Given the description of an element on the screen output the (x, y) to click on. 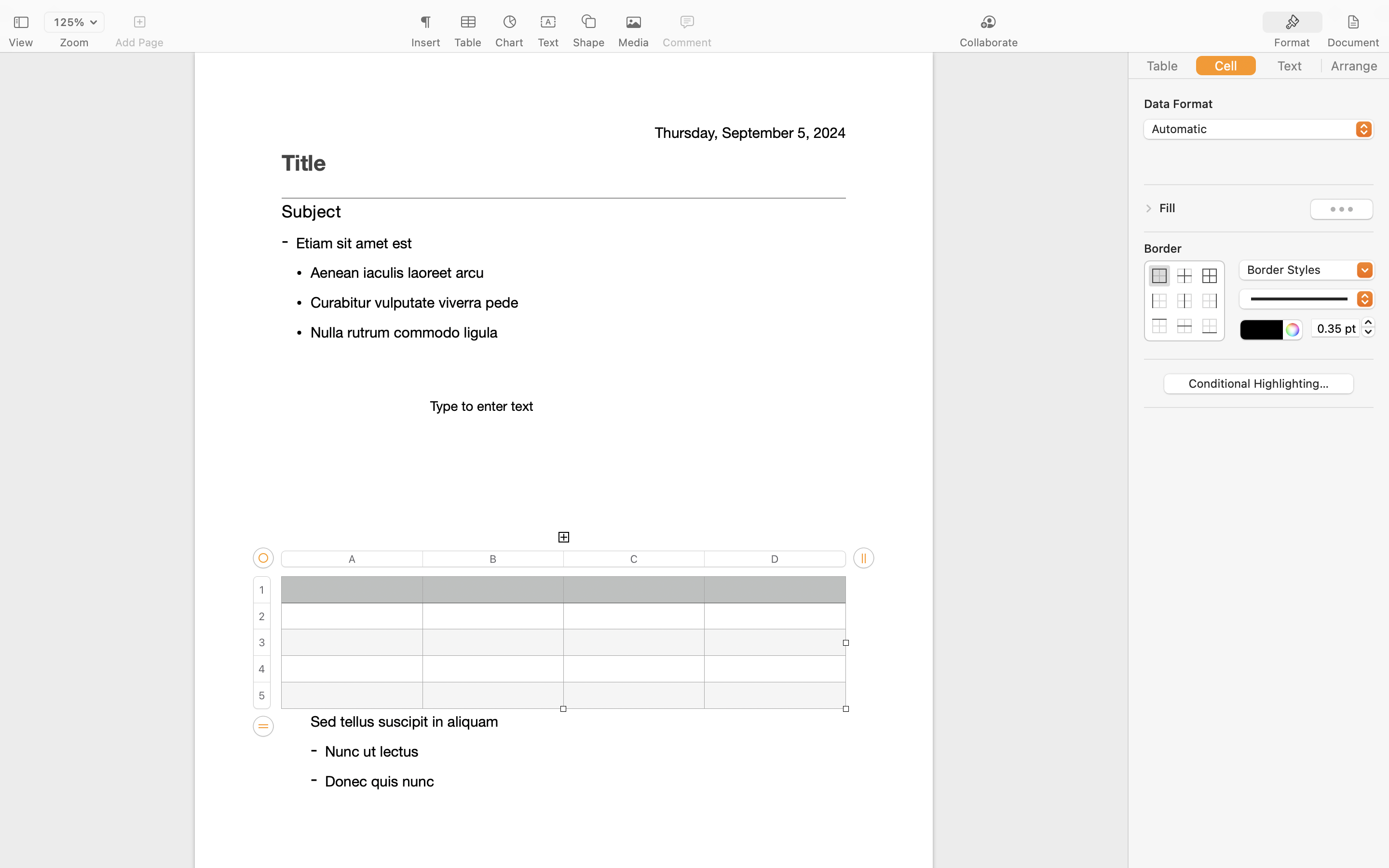
Insert Element type: AXStaticText (425, 42)
Zoom Element type: AXStaticText (73, 42)
<AXUIElement 0x17c83a870> {pid=1482} Element type: AXGroup (1322, 22)
Fill Element type: AXStaticText (1167, 207)
